Given the description of an element on the screen output the (x, y) to click on. 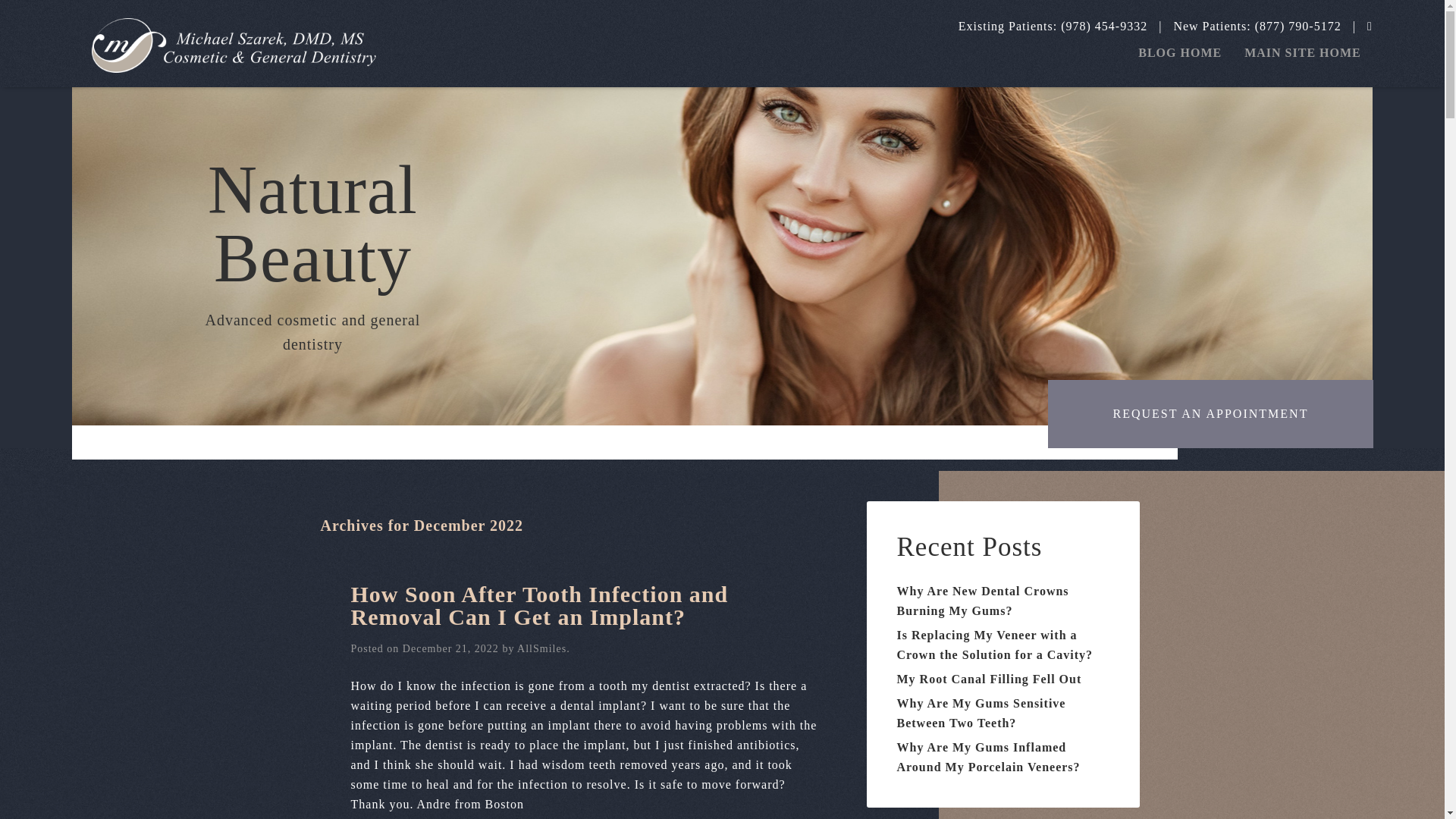
My Root Canal Filling Fell Out (988, 678)
Why Are New Dental Crowns Burning My Gums? (982, 600)
BLOG HOME (1179, 52)
Why Are My Gums Inflamed Around My Porcelain Veneers? (988, 757)
Why Are My Gums Sensitive Between Two Teeth? (980, 712)
Lowell Cosmetic Dentistry Blog (233, 45)
MAIN SITE HOME (1303, 52)
REQUEST AN APPOINTMENT (1210, 413)
